Given the description of an element on the screen output the (x, y) to click on. 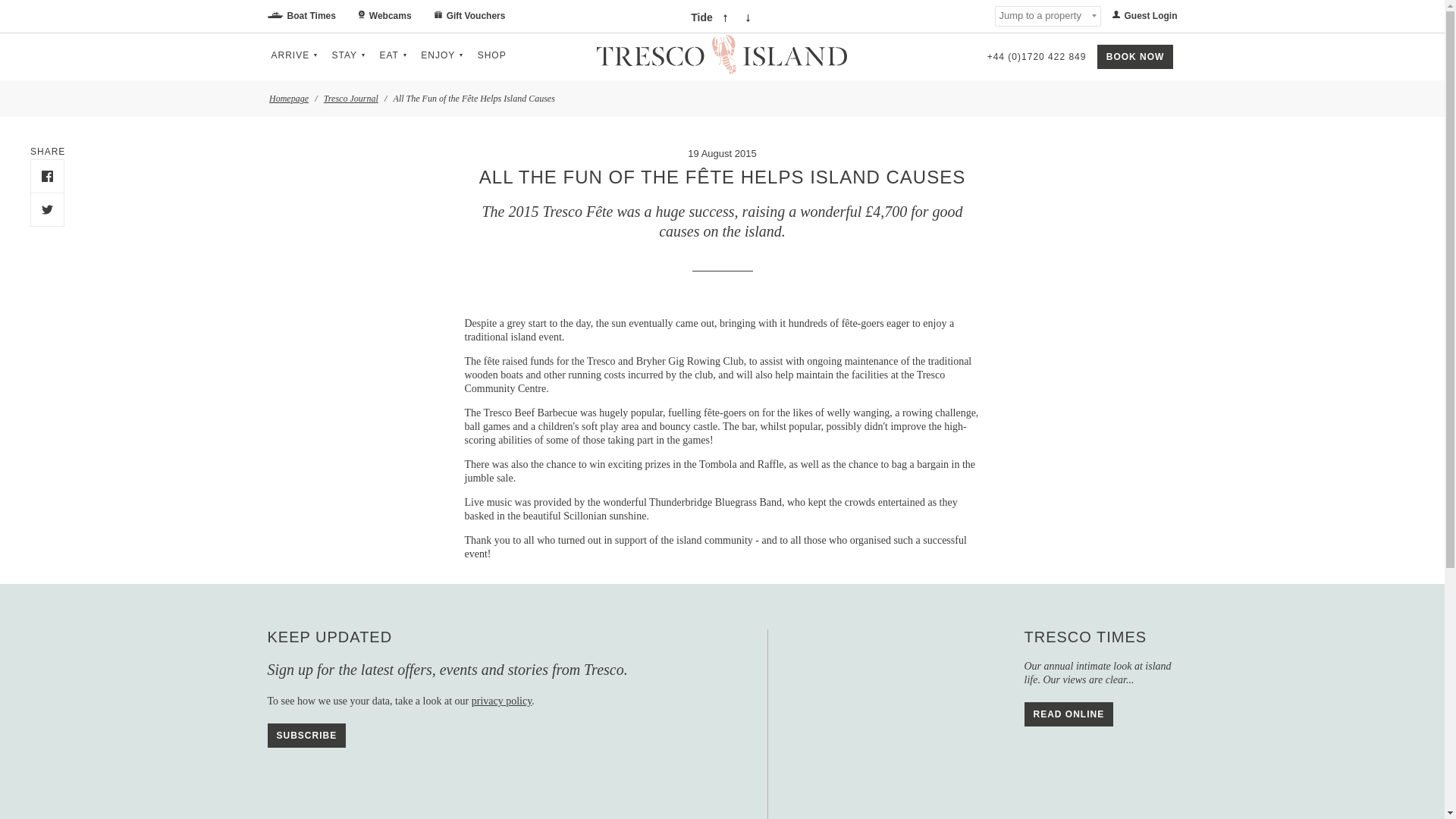
STAY (350, 56)
ENJOY (442, 56)
Boat Times (306, 15)
Guest Login (1138, 15)
SHOP (491, 56)
Gift Vouchers (469, 15)
ARRIVE (295, 56)
Like Us On Facebook (47, 175)
Tresco Webcams (385, 15)
EAT (393, 56)
